Given the description of an element on the screen output the (x, y) to click on. 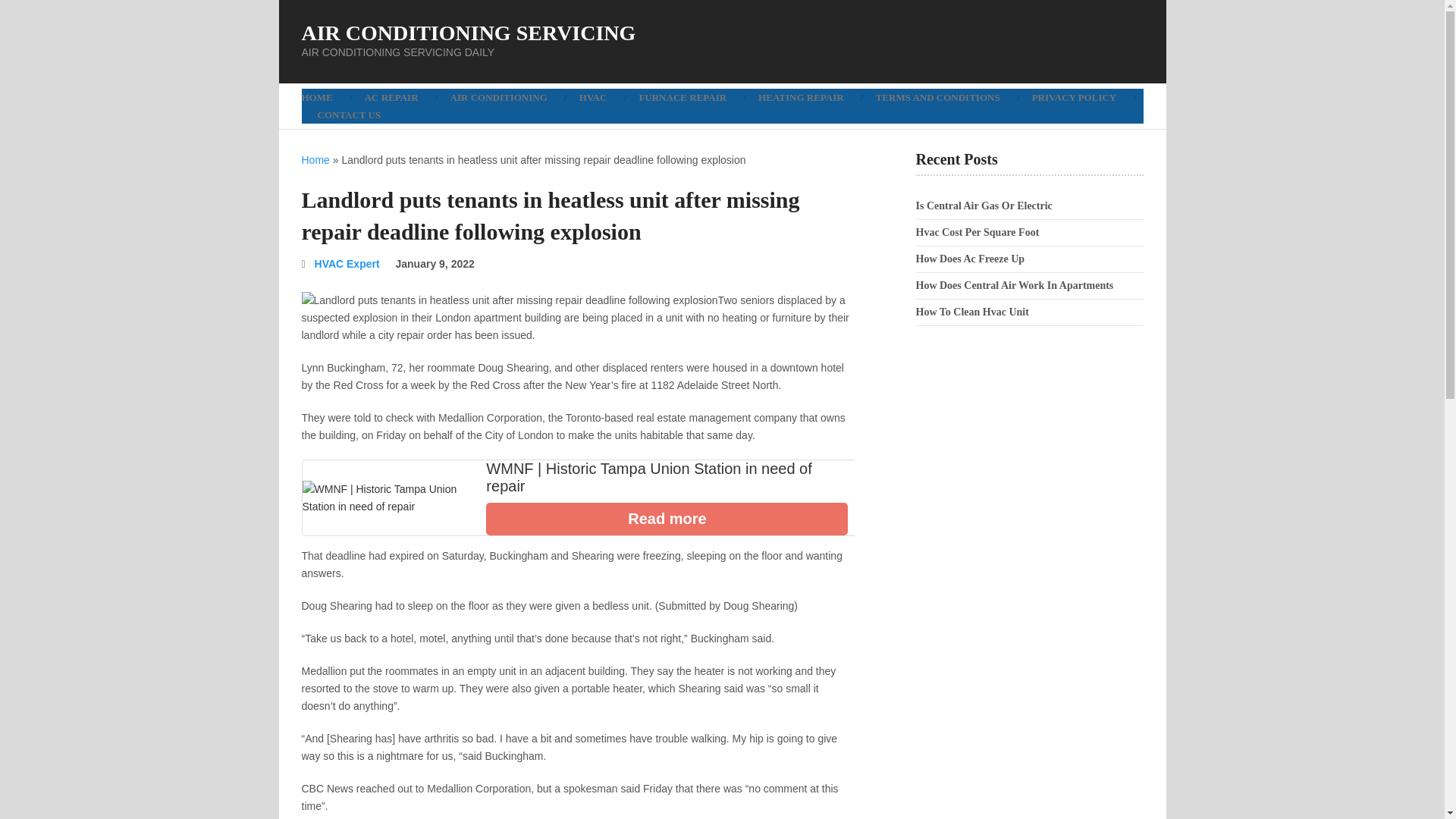
AC REPAIR (391, 97)
CONTACT US (349, 114)
FURNACE REPAIR (682, 97)
How To Clean Hvac Unit (972, 311)
HVAC (593, 97)
How Does Ac Freeze Up (970, 258)
Posts by HVAC Expert (347, 263)
AIR CONDITIONING SERVICING (468, 33)
HEATING REPAIR (801, 97)
How Does Central Air Work In Apartments (1014, 285)
